Given the description of an element on the screen output the (x, y) to click on. 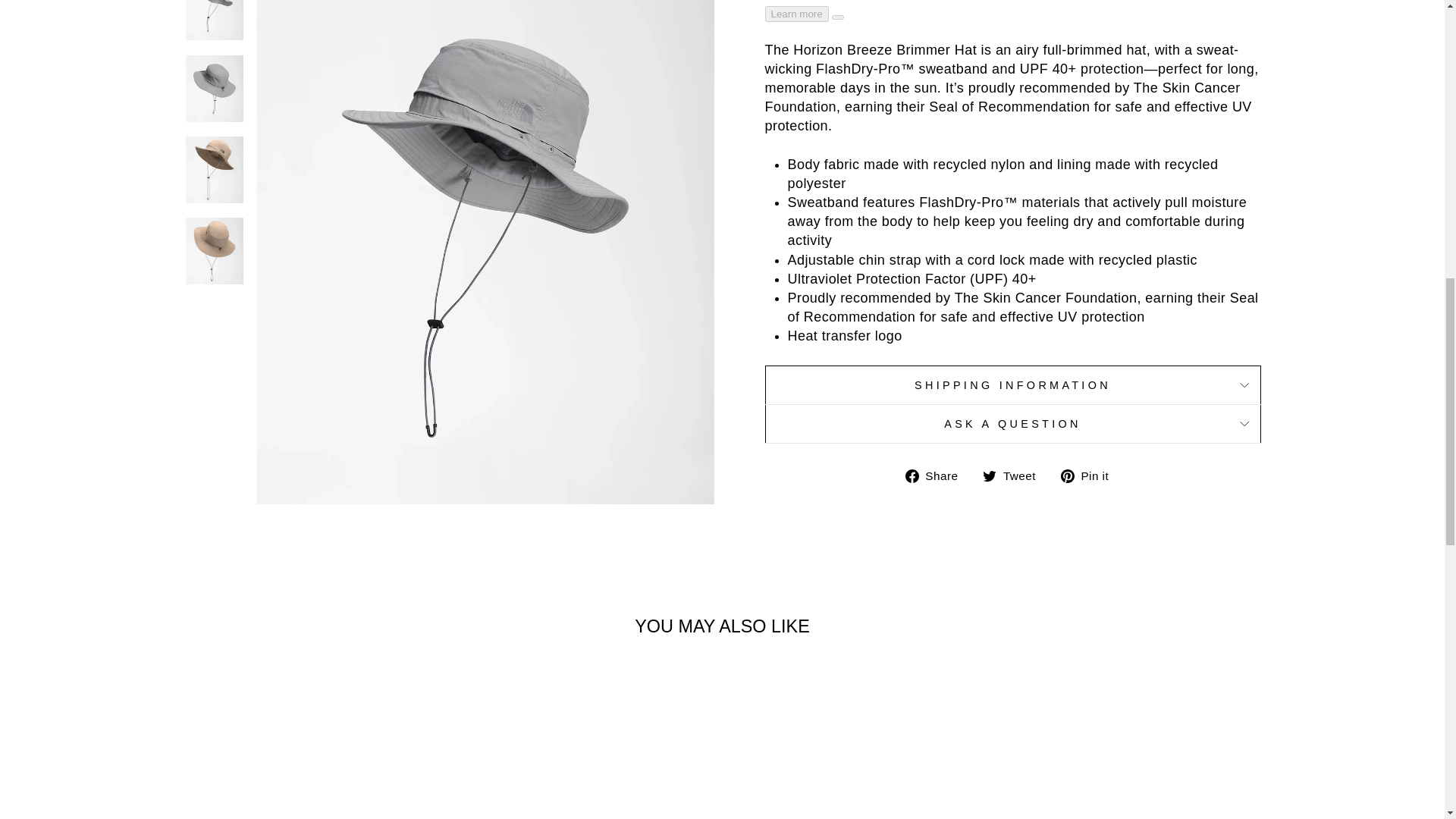
twitter (988, 476)
Tweet on Twitter (1014, 475)
Share on Facebook (937, 475)
Pin on Pinterest (1090, 475)
